Given the description of an element on the screen output the (x, y) to click on. 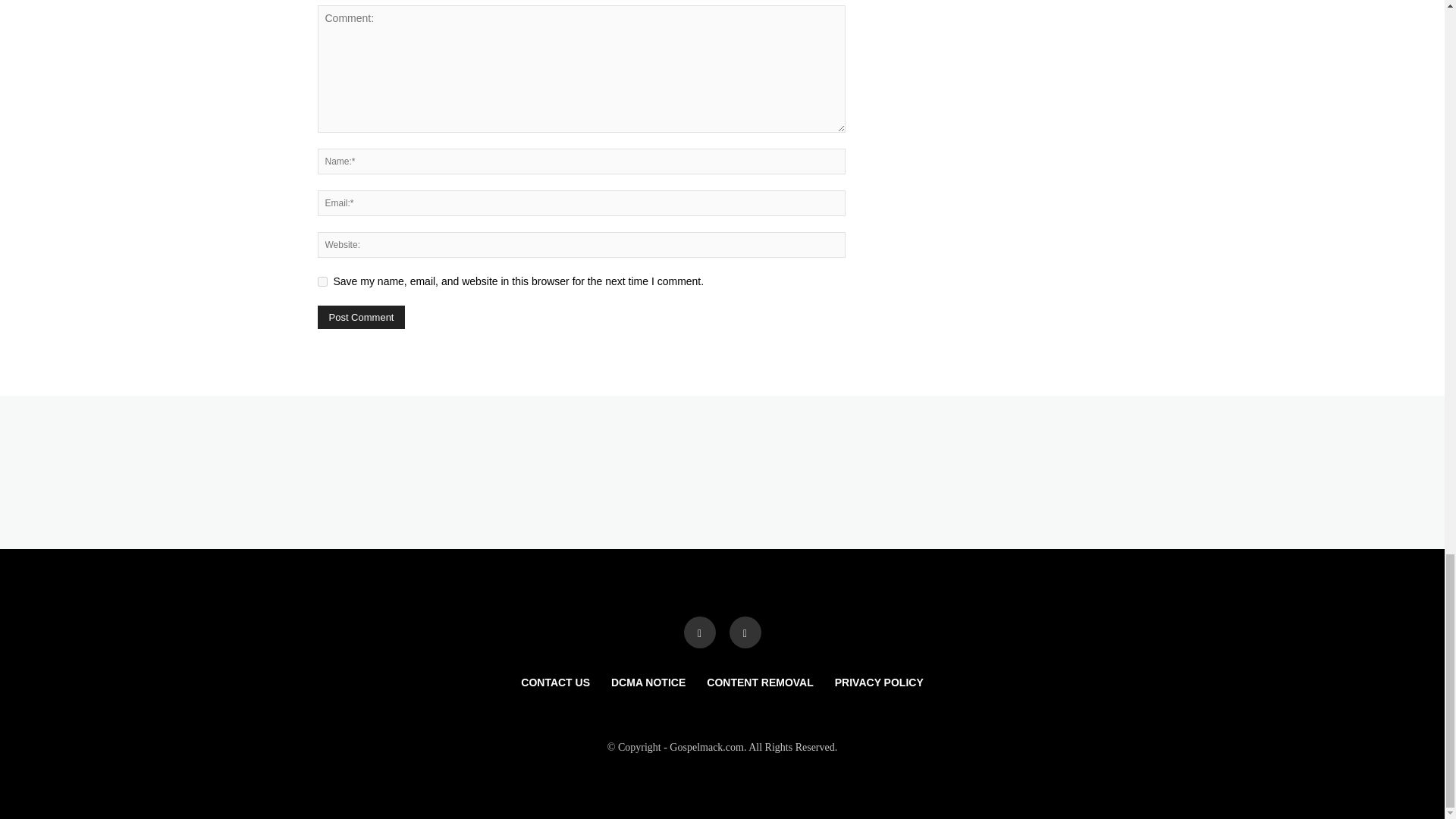
Post Comment (360, 317)
yes (321, 281)
